Given the description of an element on the screen output the (x, y) to click on. 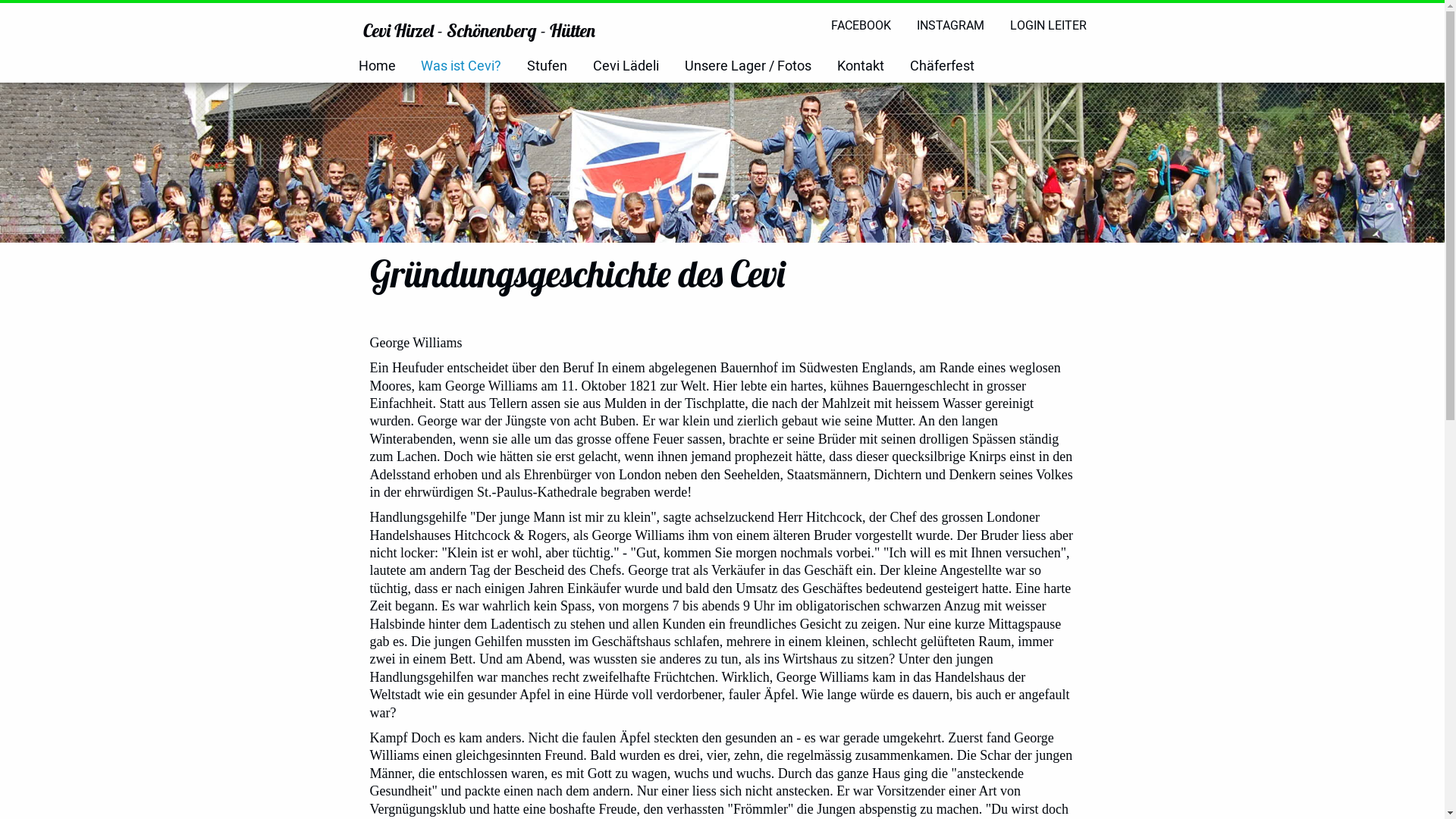
INSTAGRAM Element type: text (950, 25)
FACEBOOK Element type: text (861, 25)
Kontakt Element type: text (860, 66)
Unsere Lager / Fotos Element type: text (747, 66)
Home Element type: text (376, 66)
Stufen Element type: text (547, 66)
LOGIN LEITER Element type: text (1048, 25)
Was ist Cevi? Element type: text (460, 66)
